Given the description of an element on the screen output the (x, y) to click on. 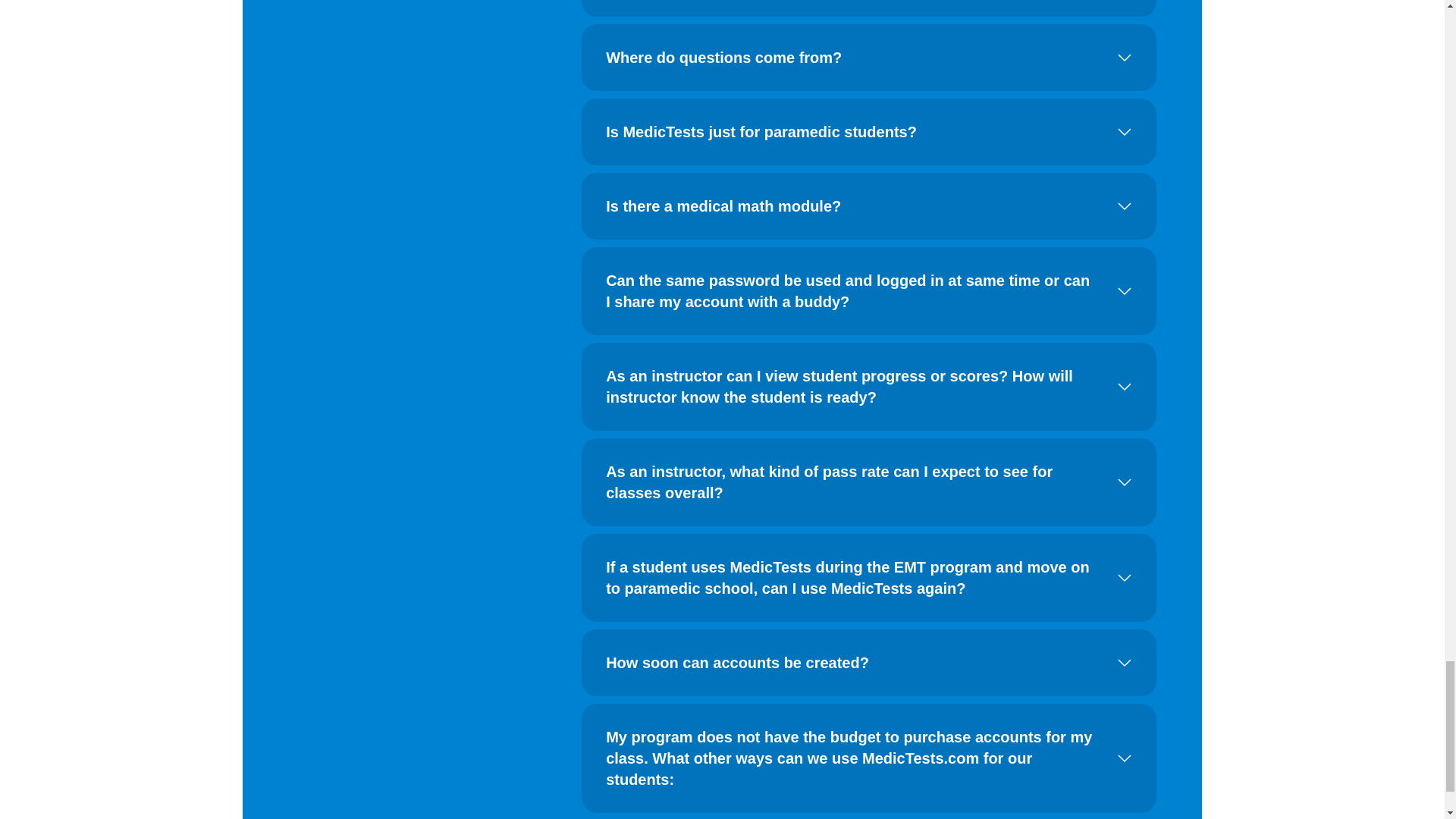
Where do questions come from? (868, 57)
How soon can accounts be created? (868, 662)
Is MedicTests just for paramedic students? (868, 131)
Is there a medical math module? (868, 206)
